Given the description of an element on the screen output the (x, y) to click on. 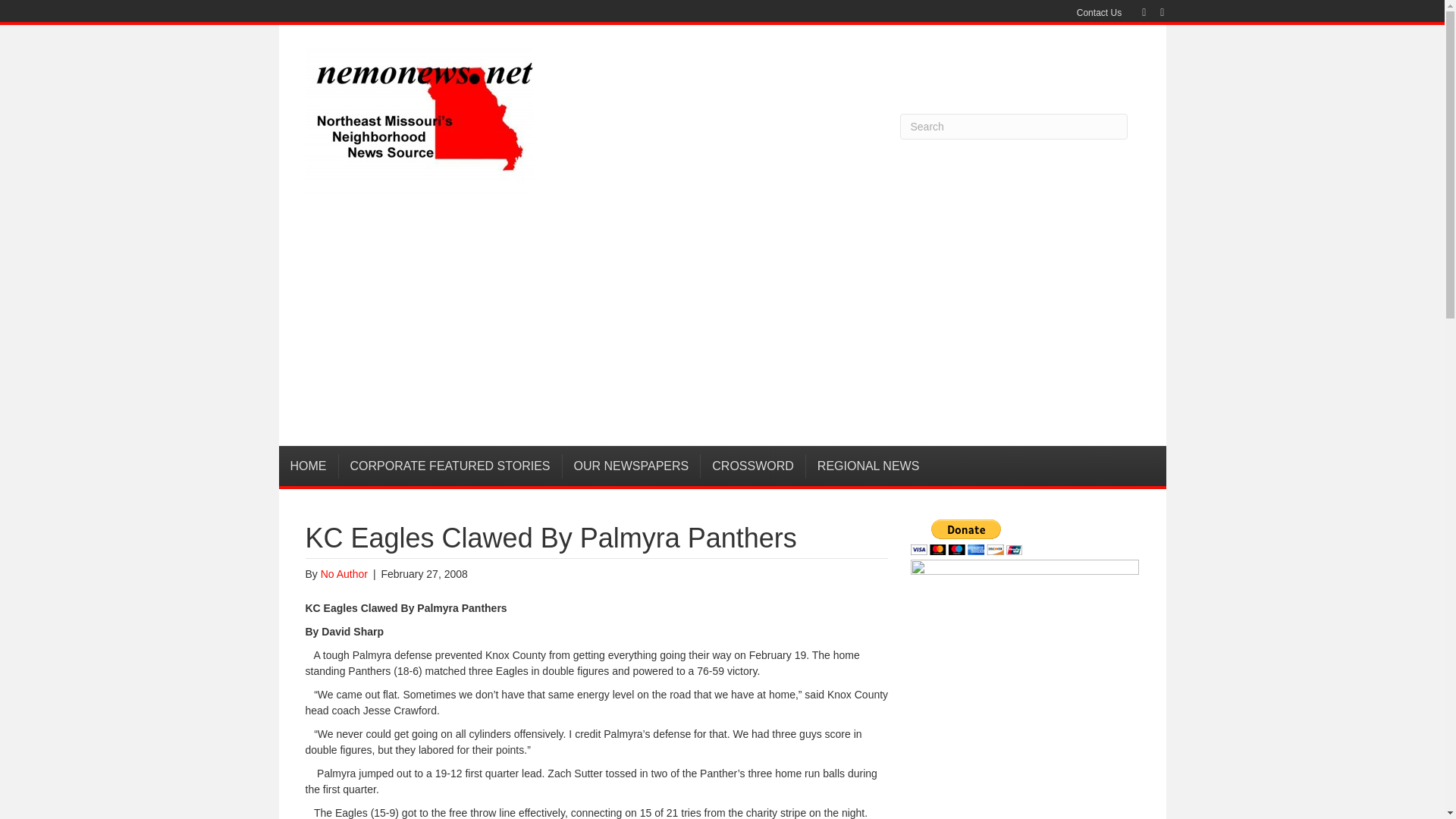
CROSSWORD (753, 466)
HOME (309, 466)
Facebook (1135, 11)
CORPORATE FEATURED STORIES (449, 466)
No Author (344, 573)
Contact Us (1098, 13)
Email (1154, 11)
REGIONAL NEWS (868, 466)
OUR NEWSPAPERS (631, 466)
Type and press Enter to search. (1012, 126)
